Given the description of an element on the screen output the (x, y) to click on. 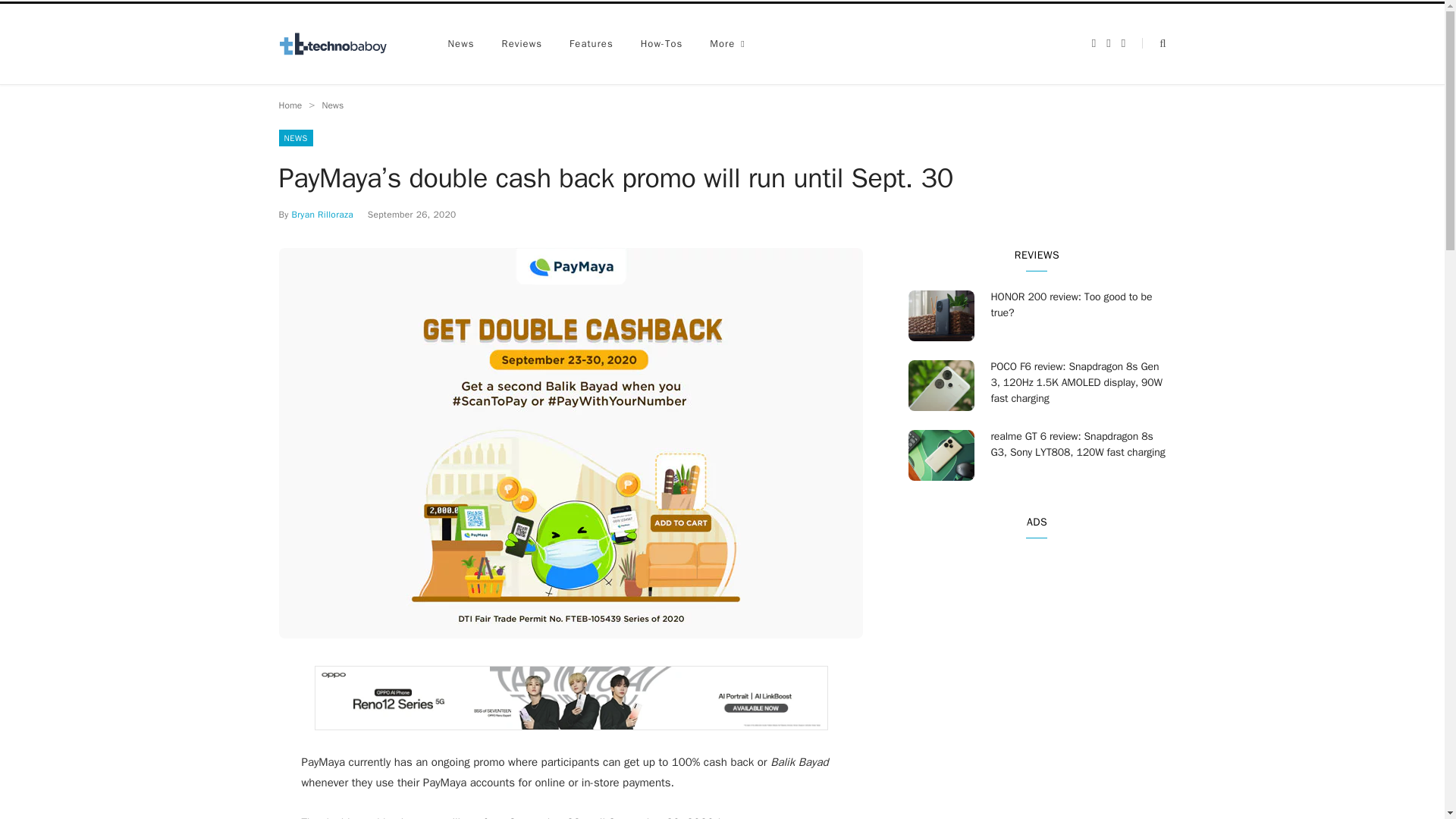
Bryan Rilloraza (322, 214)
NEWS (296, 137)
Home (290, 105)
September 26, 2020 (412, 214)
News (332, 105)
Search (1153, 43)
Posts by Bryan Rilloraza (322, 214)
Technobaboy (339, 43)
